Given the description of an element on the screen output the (x, y) to click on. 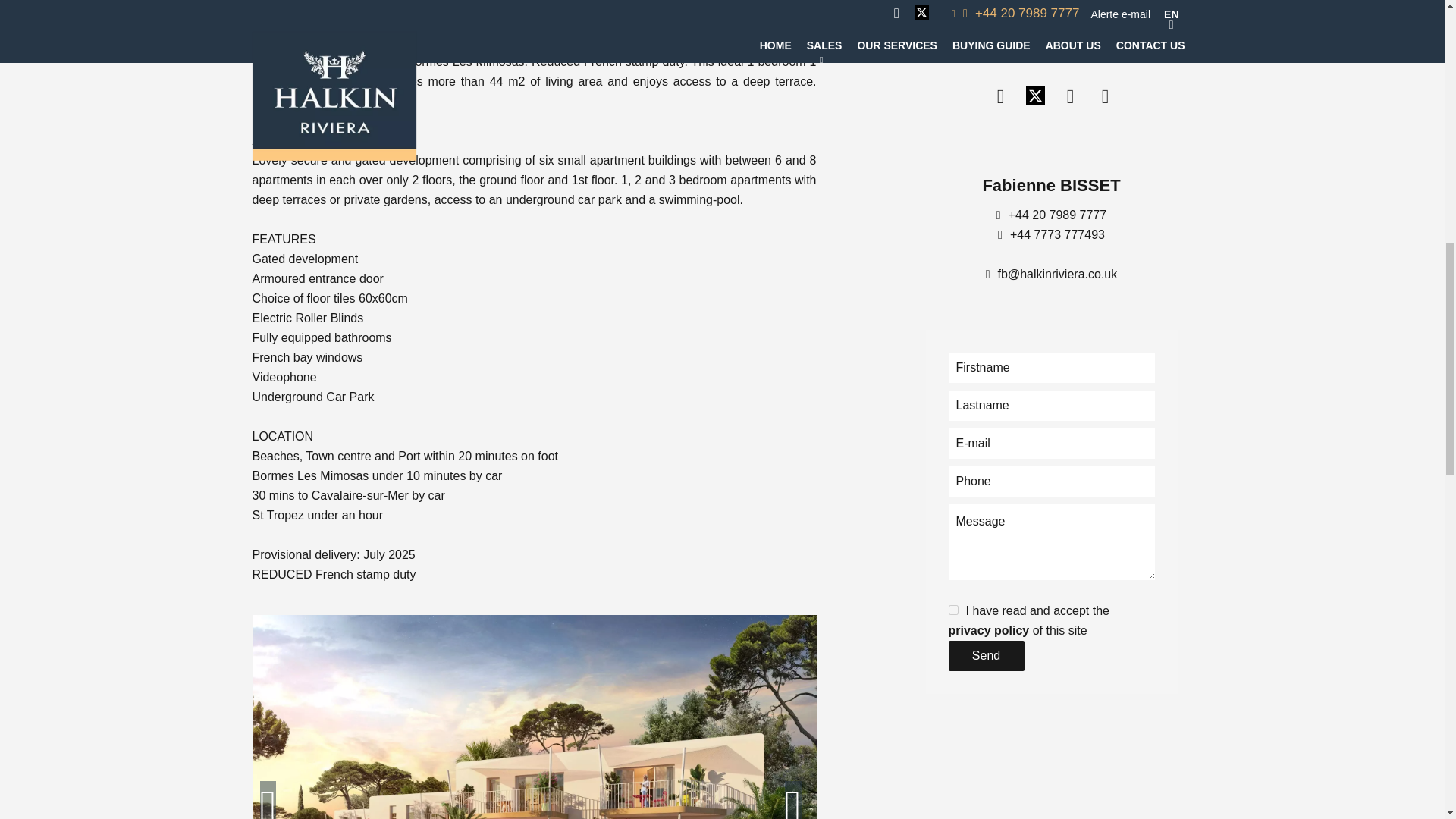
on (952, 610)
